Given the description of an element on the screen output the (x, y) to click on. 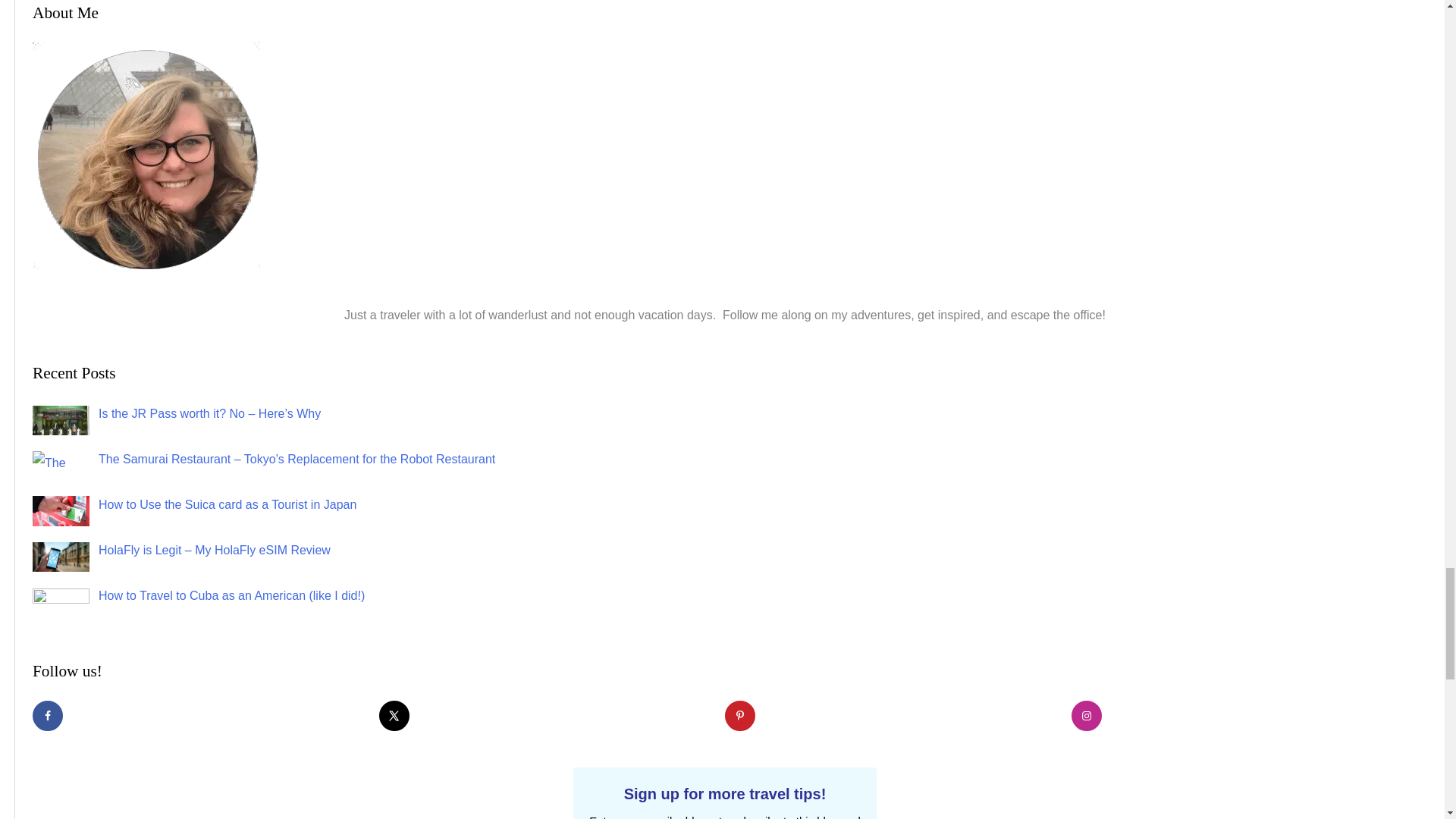
Follow on Pinterest (740, 716)
Follow on Instagram (1085, 716)
Follow on Facebook (47, 716)
Follow on X (393, 716)
